Given the description of an element on the screen output the (x, y) to click on. 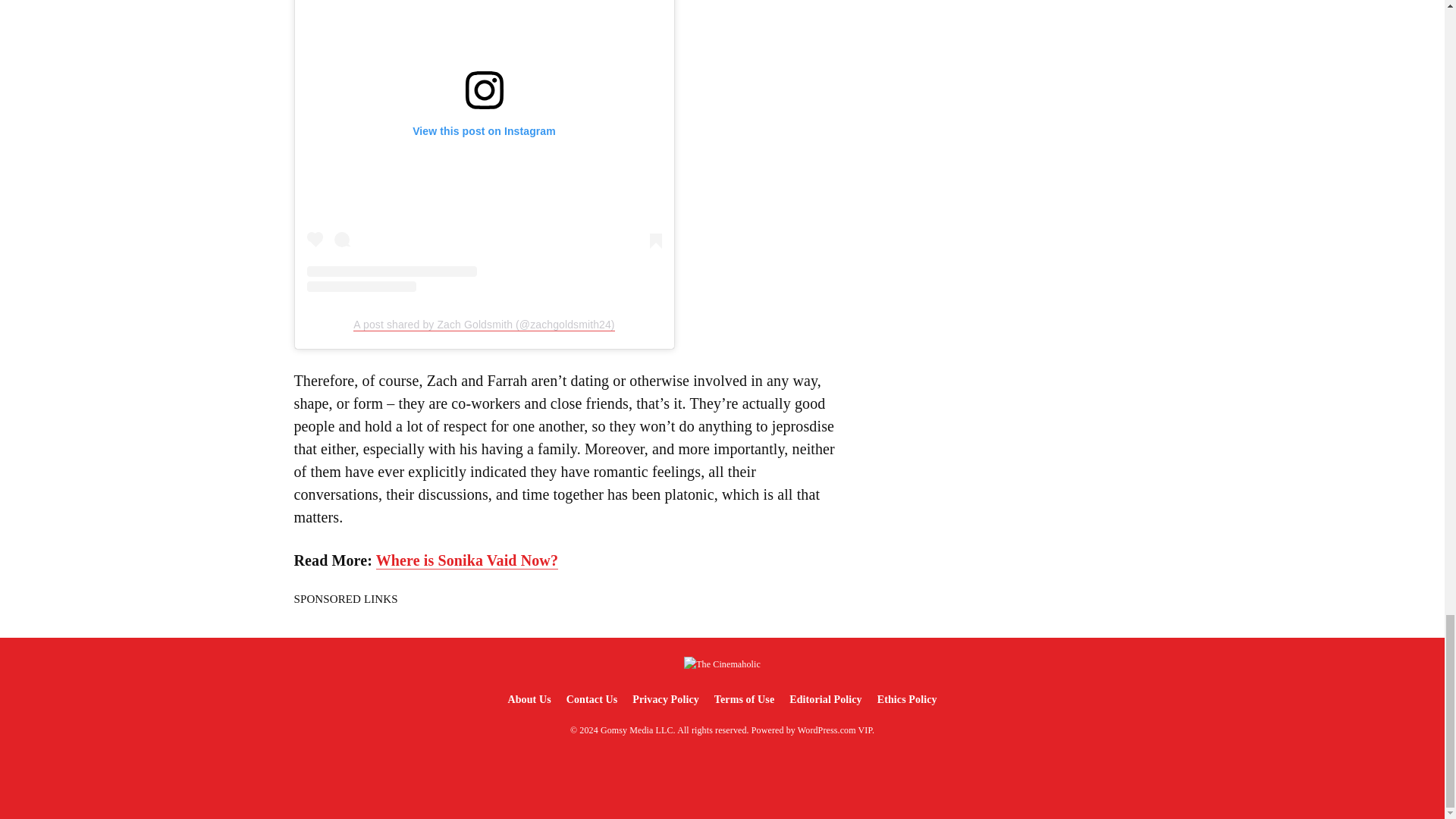
WordPress.com VIP (834, 729)
Terms of Use (743, 699)
Where is Sonika Vaid Now? (466, 560)
About Us (528, 699)
View this post on Instagram (483, 145)
Editorial Policy (825, 699)
Contact Us (592, 699)
Ethics Policy (906, 699)
Privacy Policy (665, 699)
